Given the description of an element on the screen output the (x, y) to click on. 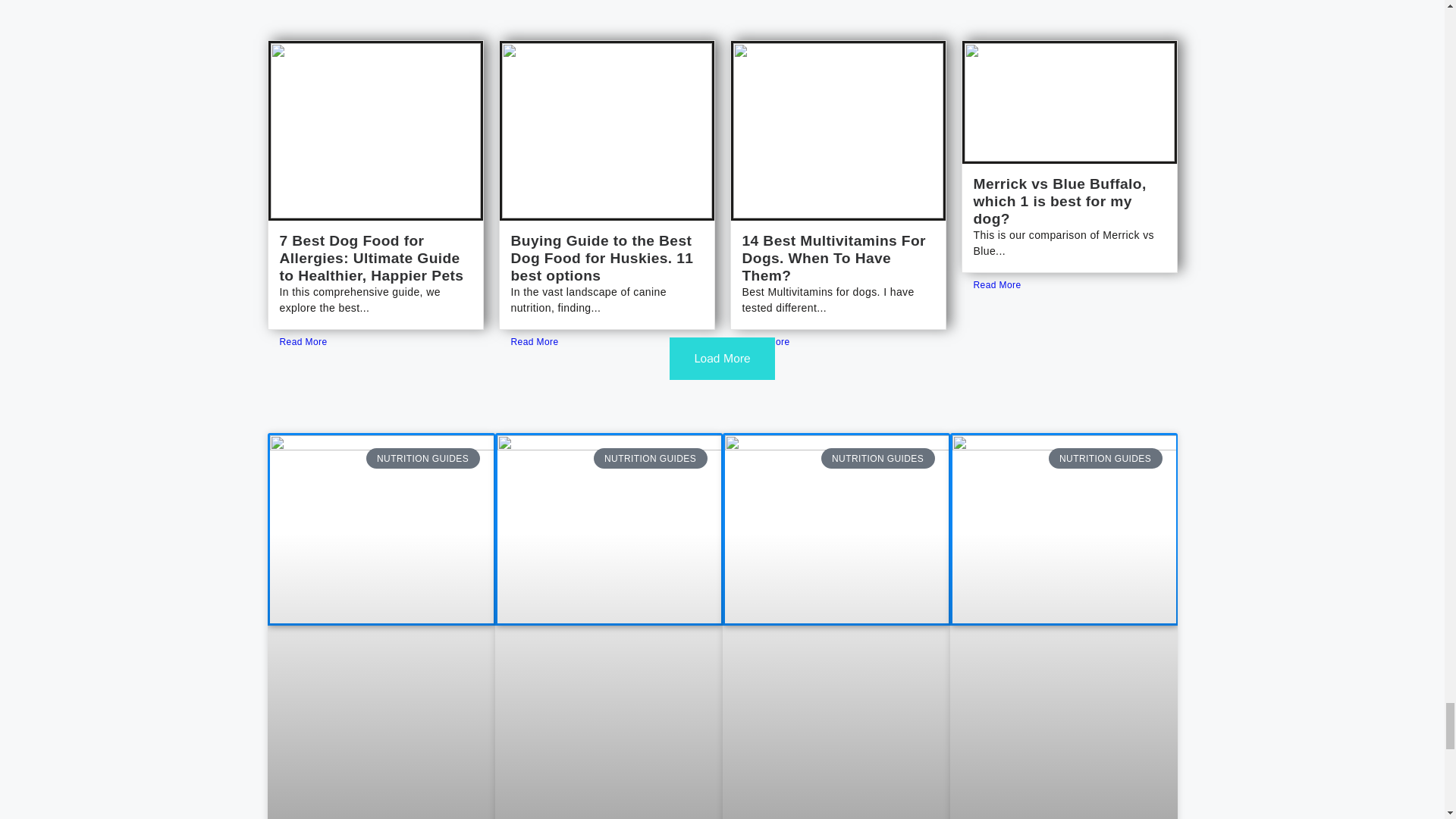
Merrick vs Blue Buffalo, which 1 is best for my dog? (1060, 201)
14 Best Multivitamins For Dogs. When To Have Them? (832, 257)
